Given the description of an element on the screen output the (x, y) to click on. 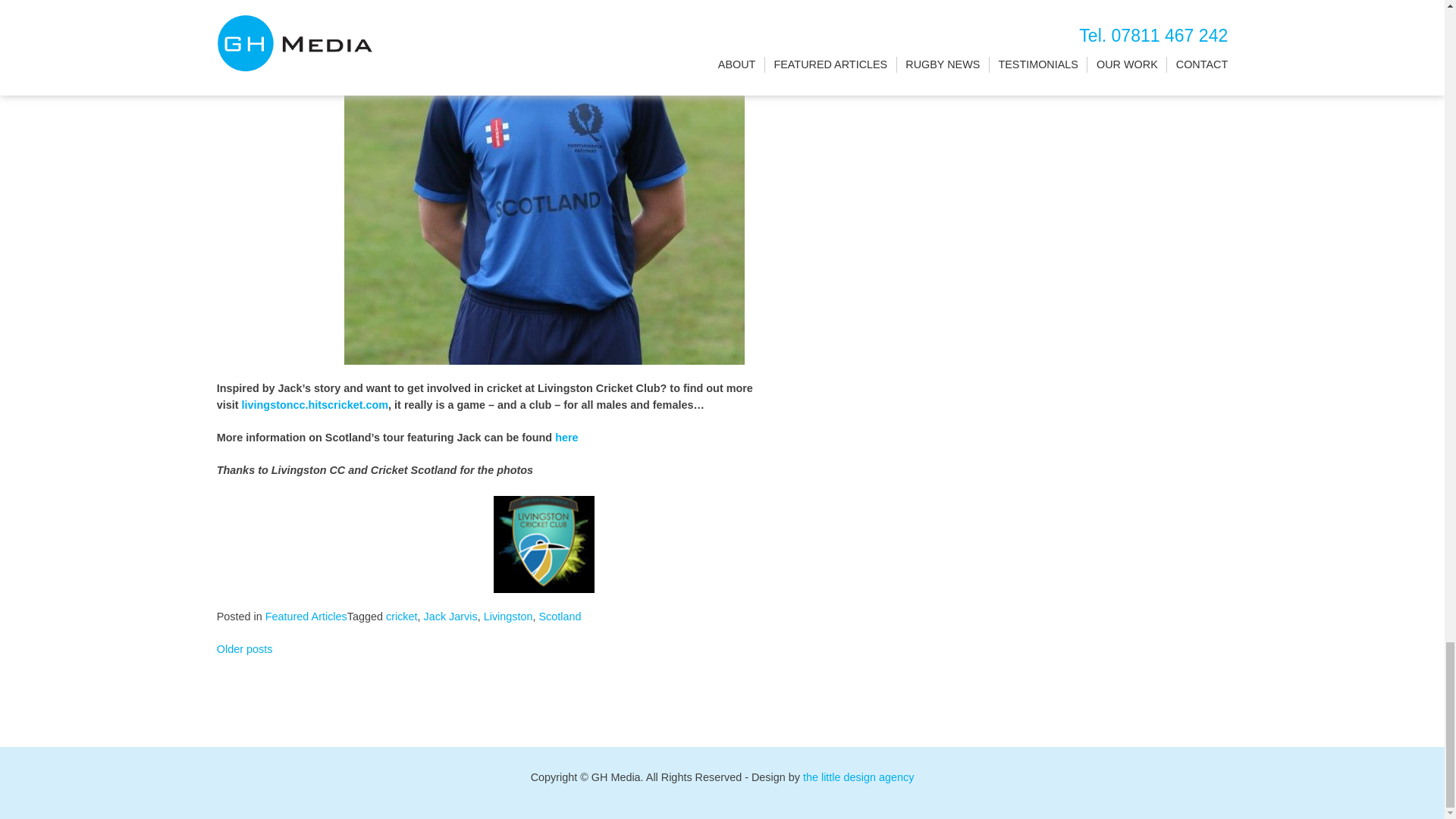
Jack Jarvis (450, 616)
cricket (401, 616)
the little design agency (858, 776)
Scotland (559, 616)
here  (567, 437)
Featured Articles (305, 616)
Older posts (244, 648)
Livingston (507, 616)
livingstoncc.hitscricket.com (314, 404)
